Given the description of an element on the screen output the (x, y) to click on. 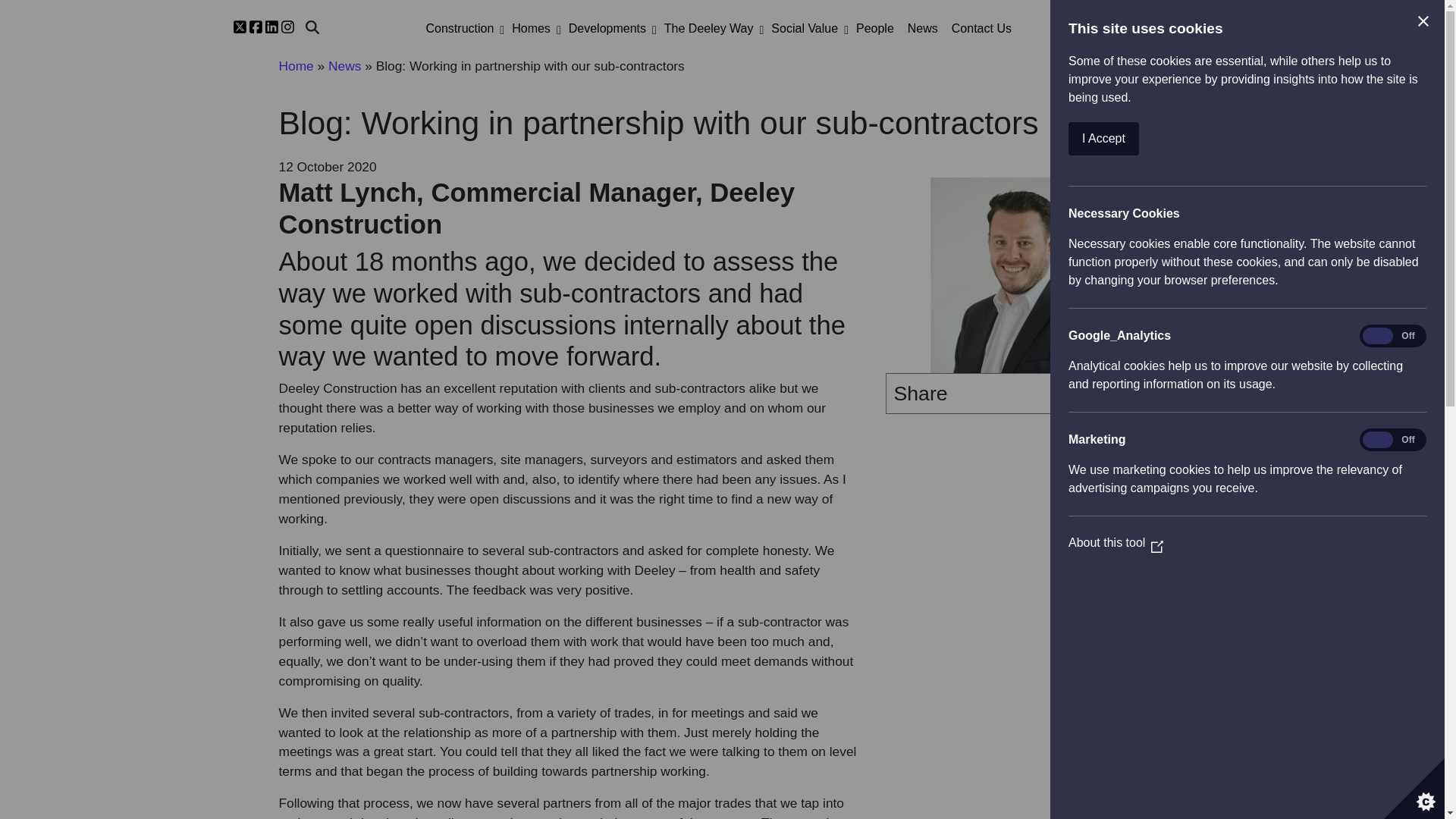
Construction (460, 28)
Homes (530, 28)
